Given the description of an element on the screen output the (x, y) to click on. 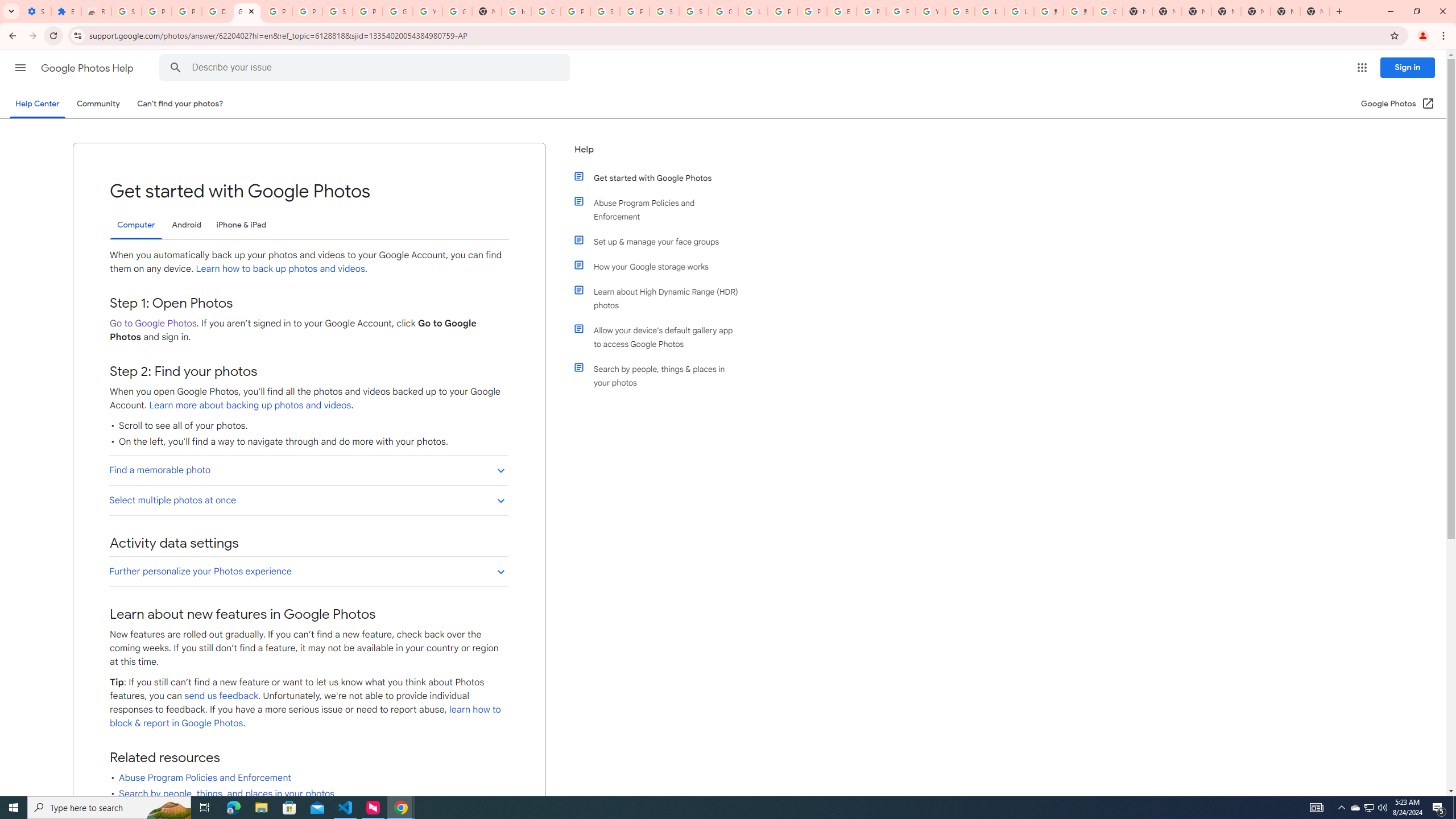
Reviews: Helix Fruit Jump Arcade Game (95, 11)
Search Help Center (176, 67)
Google Photos (Open in a new window) (1397, 103)
https://scholar.google.com/ (515, 11)
Android (186, 224)
Learn how to back up photos and videos (280, 268)
Google Photos Help (87, 68)
Sign in - Google Accounts (693, 11)
